Given the description of an element on the screen output the (x, y) to click on. 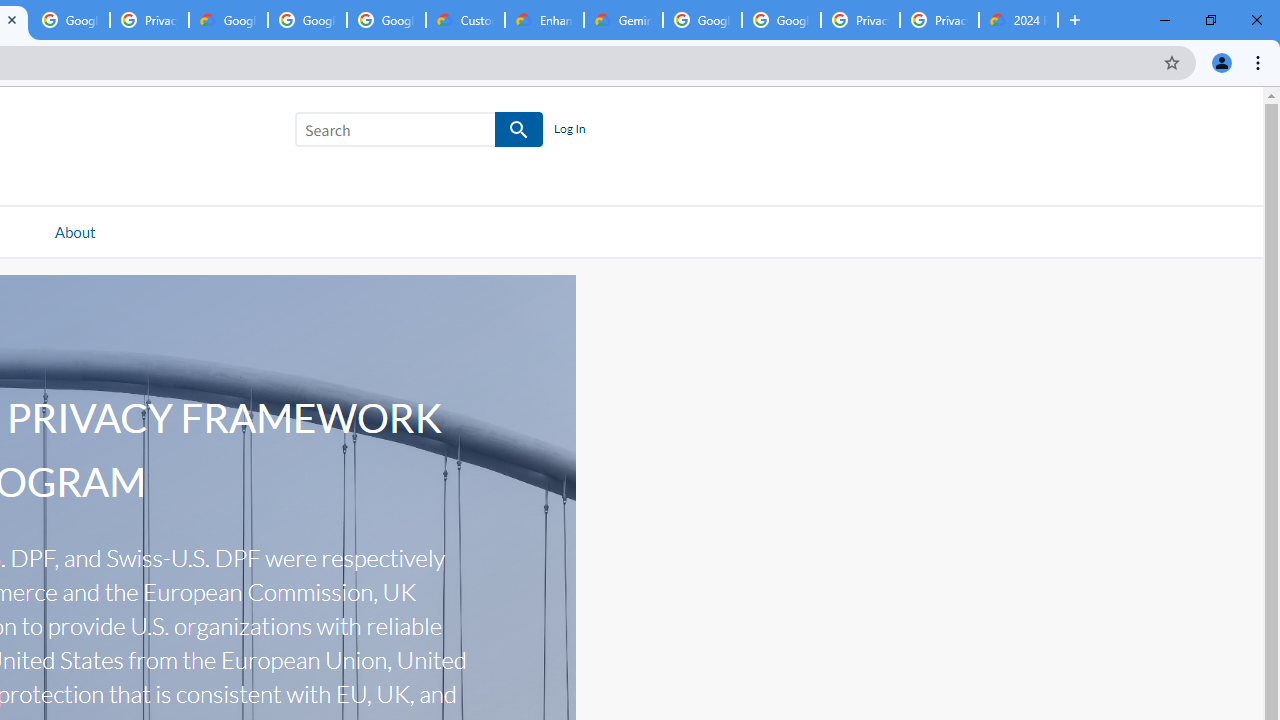
Google Workspace - Specific Terms (306, 20)
Google Cloud Terms Directory | Google Cloud (228, 20)
Enhanced Support | Google Cloud (544, 20)
AutomationID: navitem2 (74, 231)
SEARCH (519, 130)
